Given the description of an element on the screen output the (x, y) to click on. 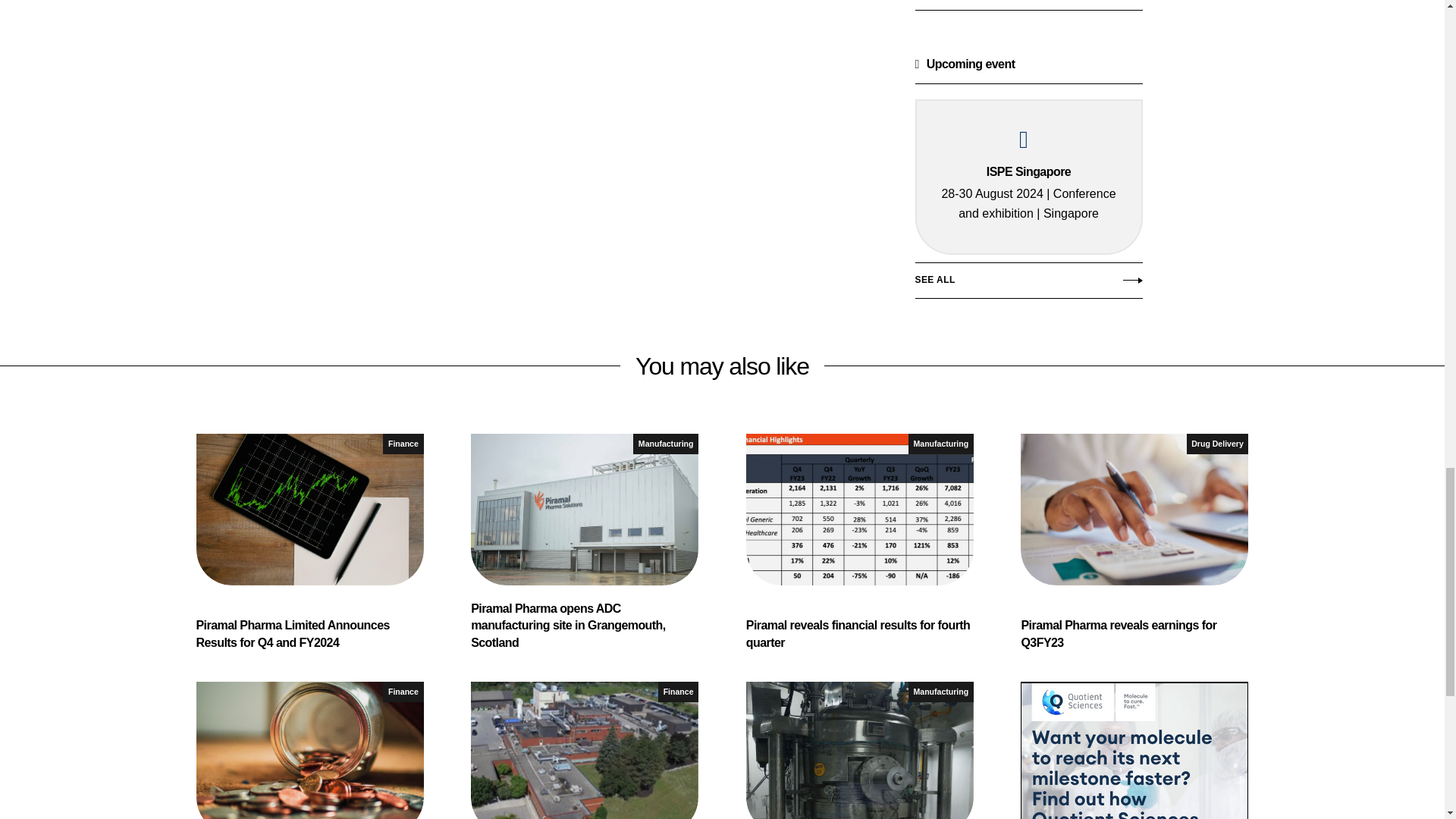
SEE MORE (1027, 12)
SEE ALL (1027, 283)
